Given the description of an element on the screen output the (x, y) to click on. 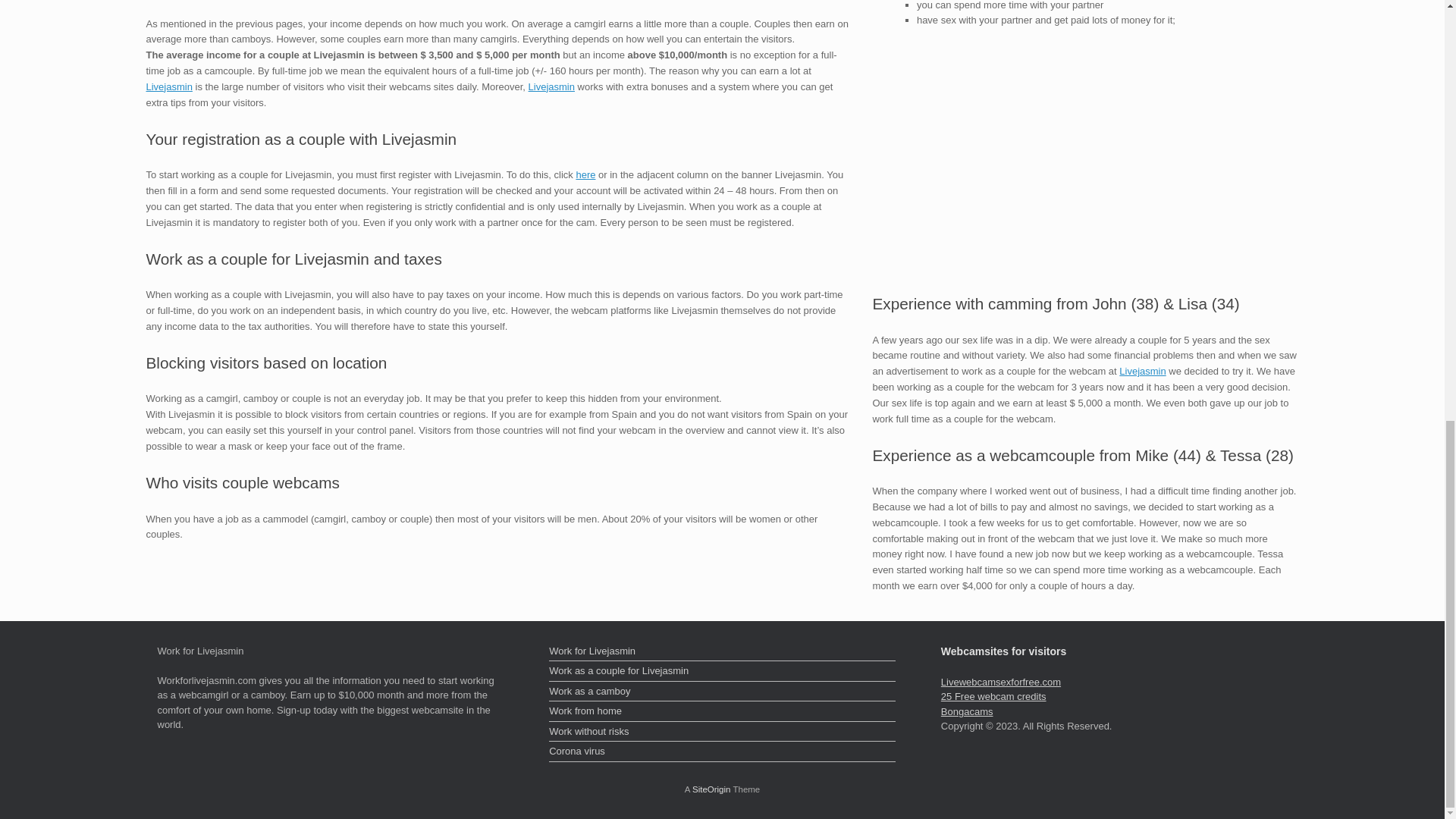
Work for Livejasmin (721, 652)
Livejasmin (551, 86)
Work from home (721, 712)
Work as a couple for Livejasmin (721, 672)
Livejasmin (1142, 370)
Corona virus (721, 752)
here (585, 174)
Livewebcamsexforfree.com (1000, 681)
Work without risks (721, 732)
Bongacams (966, 711)
